Given the description of an element on the screen output the (x, y) to click on. 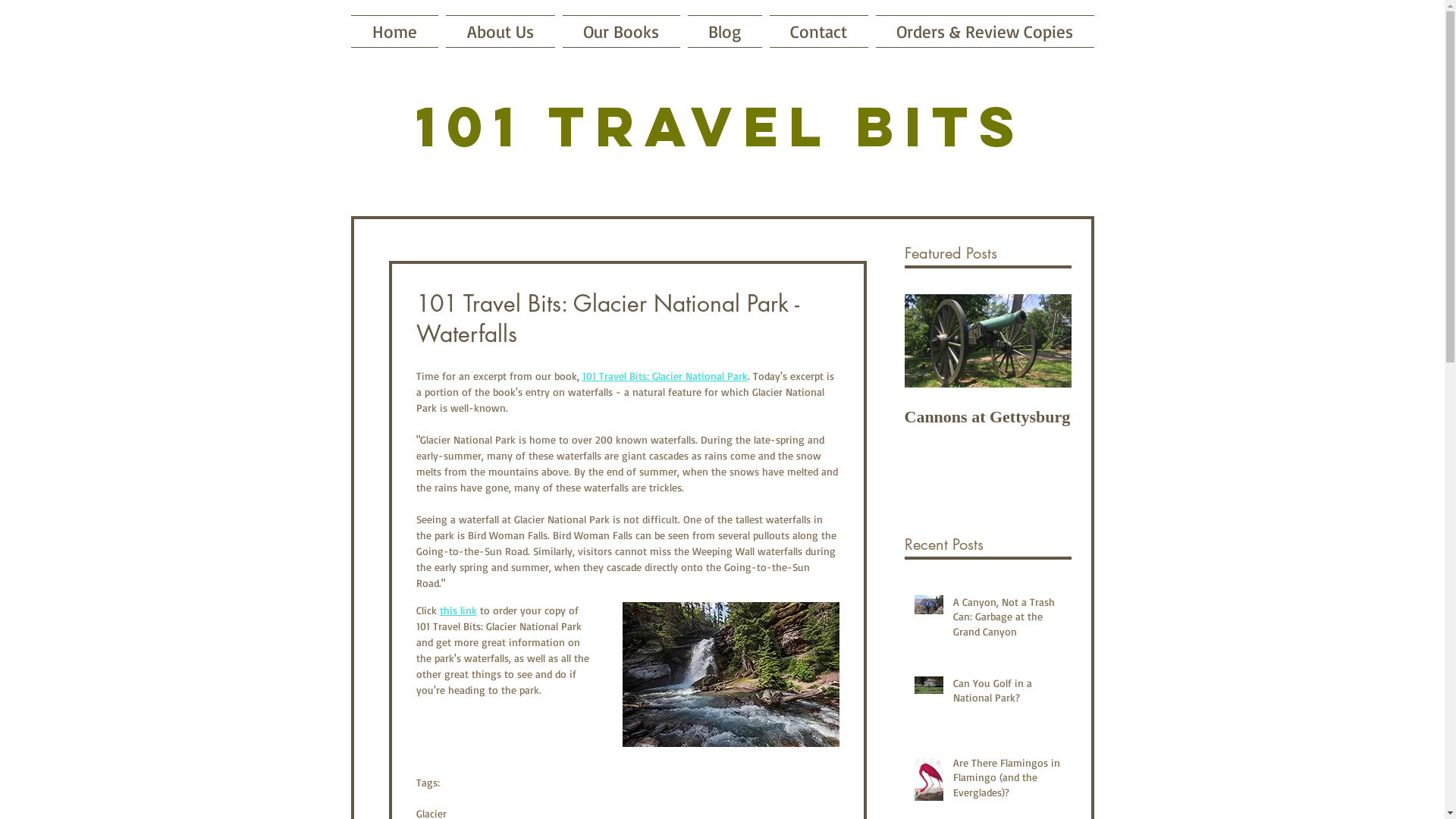
Home Element type: text (395, 31)
5 Cool Facts About Yellowstone's Grizzly Bears Element type: text (1320, 436)
Our Books Element type: text (620, 31)
Can You Golf in a National Park? Element type: text (1006, 693)
Are There Flamingos in Flamingo (and the Everglades)? Element type: text (1006, 780)
Cannons at Gettysburg Element type: text (986, 416)
101 Travel Bits: Glacier National Park Element type: text (664, 375)
Orders & Review Copies Element type: text (983, 31)
Blog Element type: text (724, 31)
this link Element type: text (457, 609)
A Canyon, Not a Trash Can: Garbage at the Grand Canyon Element type: text (1006, 619)
About Us Element type: text (499, 31)
Contact Element type: text (818, 31)
